Given the description of an element on the screen output the (x, y) to click on. 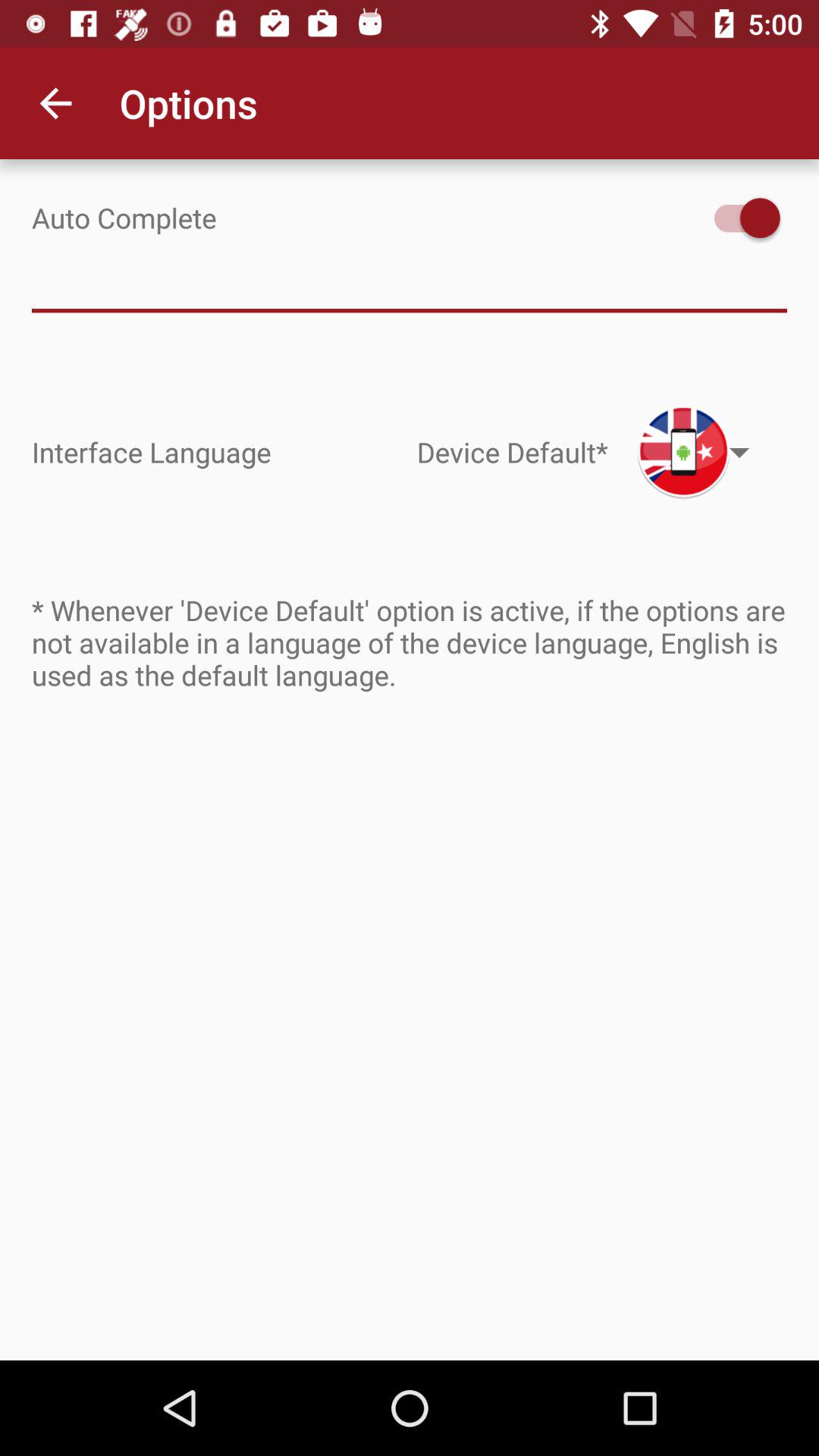
turn on auto complete (739, 218)
